Given the description of an element on the screen output the (x, y) to click on. 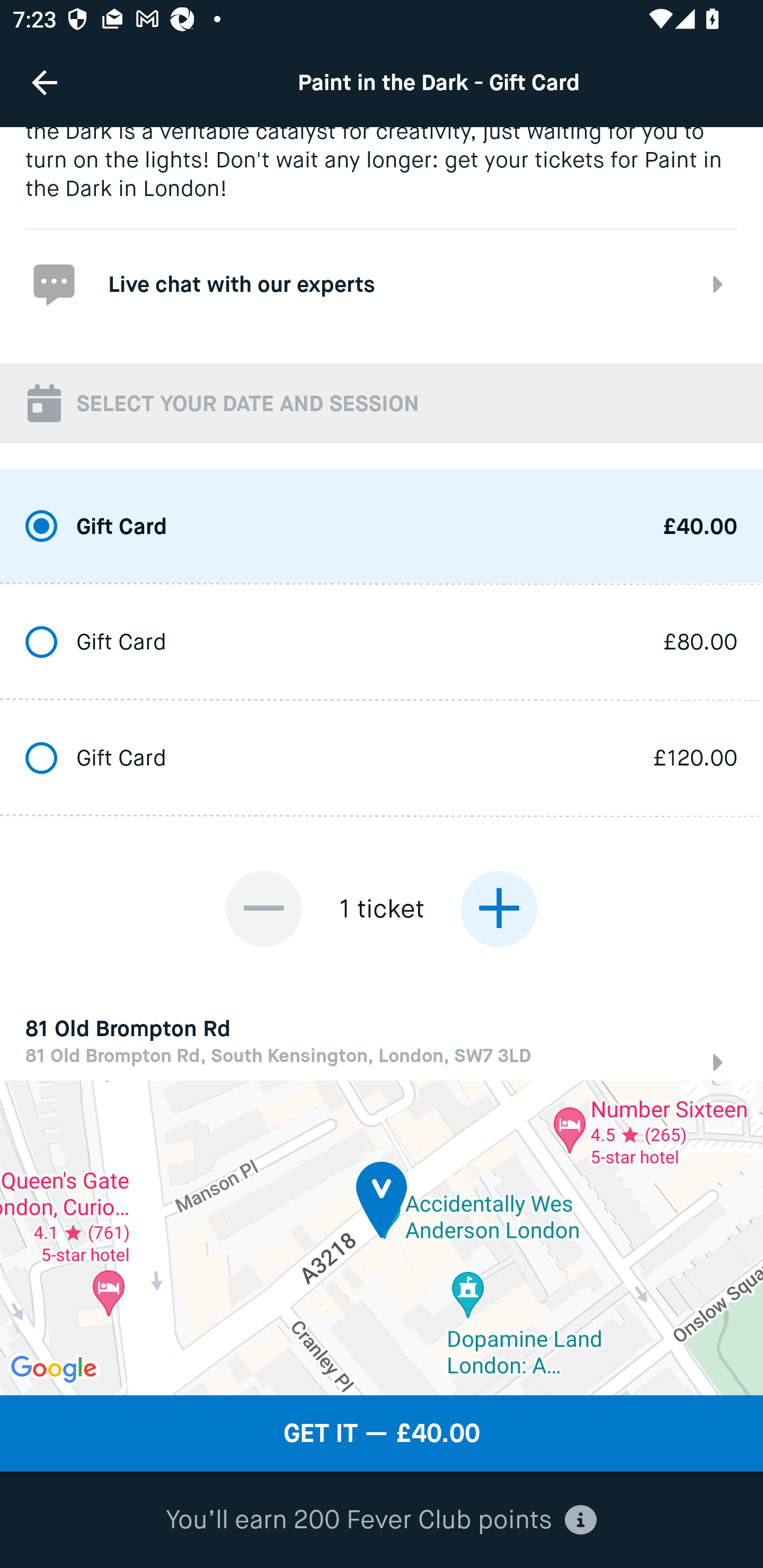
Navigate up (44, 82)
Live chat with our experts (381, 283)
Gift Card £40.00 (381, 526)
Gift Card £80.00 (381, 642)
Gift Card £120.00 (381, 758)
decrease (263, 908)
increase (498, 908)
Google Map Map Marker (381, 1237)
GET IT — £40.00 (381, 1433)
You’ll earn 200 Fever Club points (380, 1519)
